Given the description of an element on the screen output the (x, y) to click on. 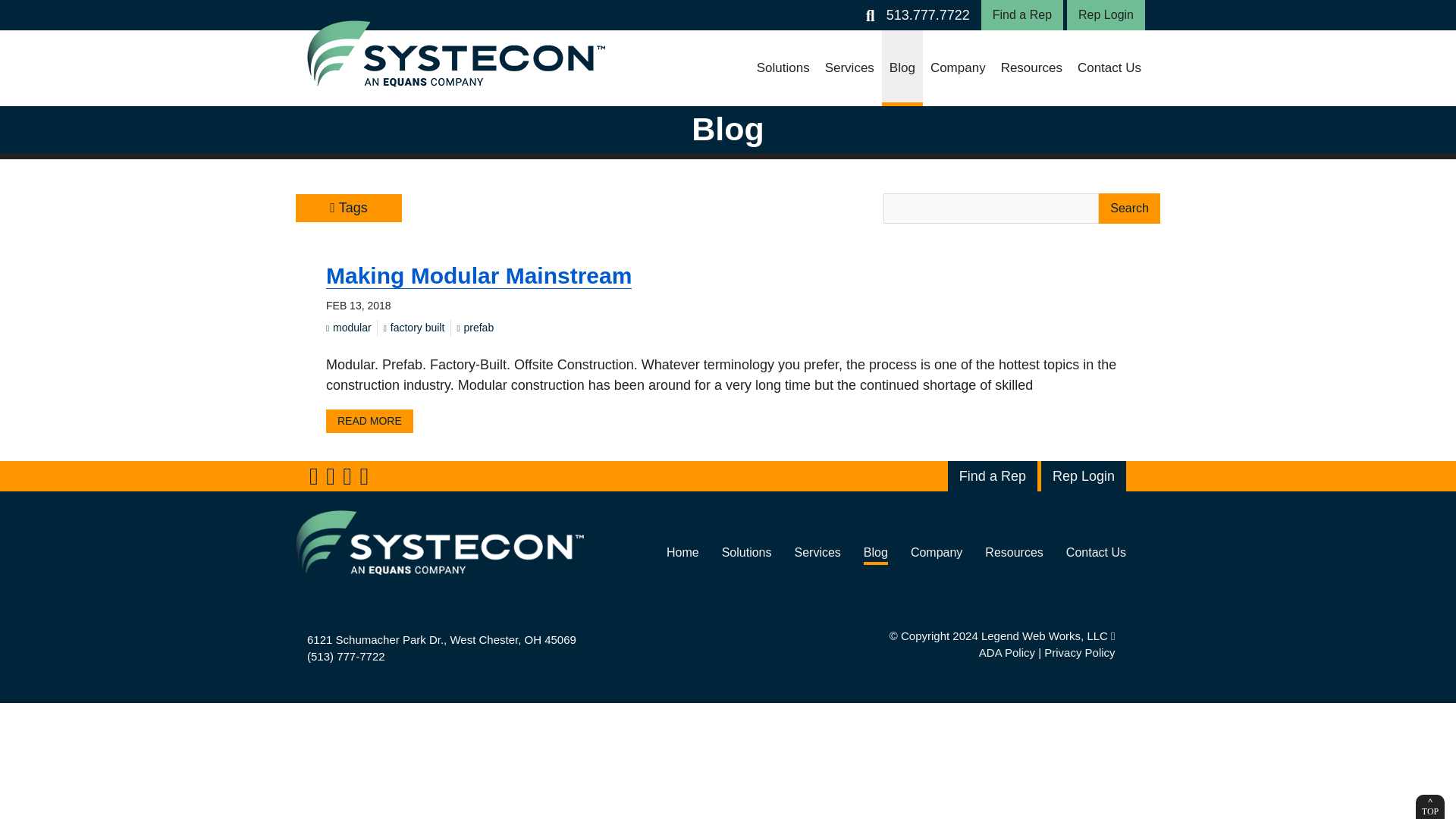
Solutions (782, 68)
Company (957, 68)
Search (1129, 208)
Find a Rep (1021, 15)
Rep Login (1105, 15)
Contact Us (1109, 68)
513.777.7722 (927, 15)
Resources (1031, 68)
